Given the description of an element on the screen output the (x, y) to click on. 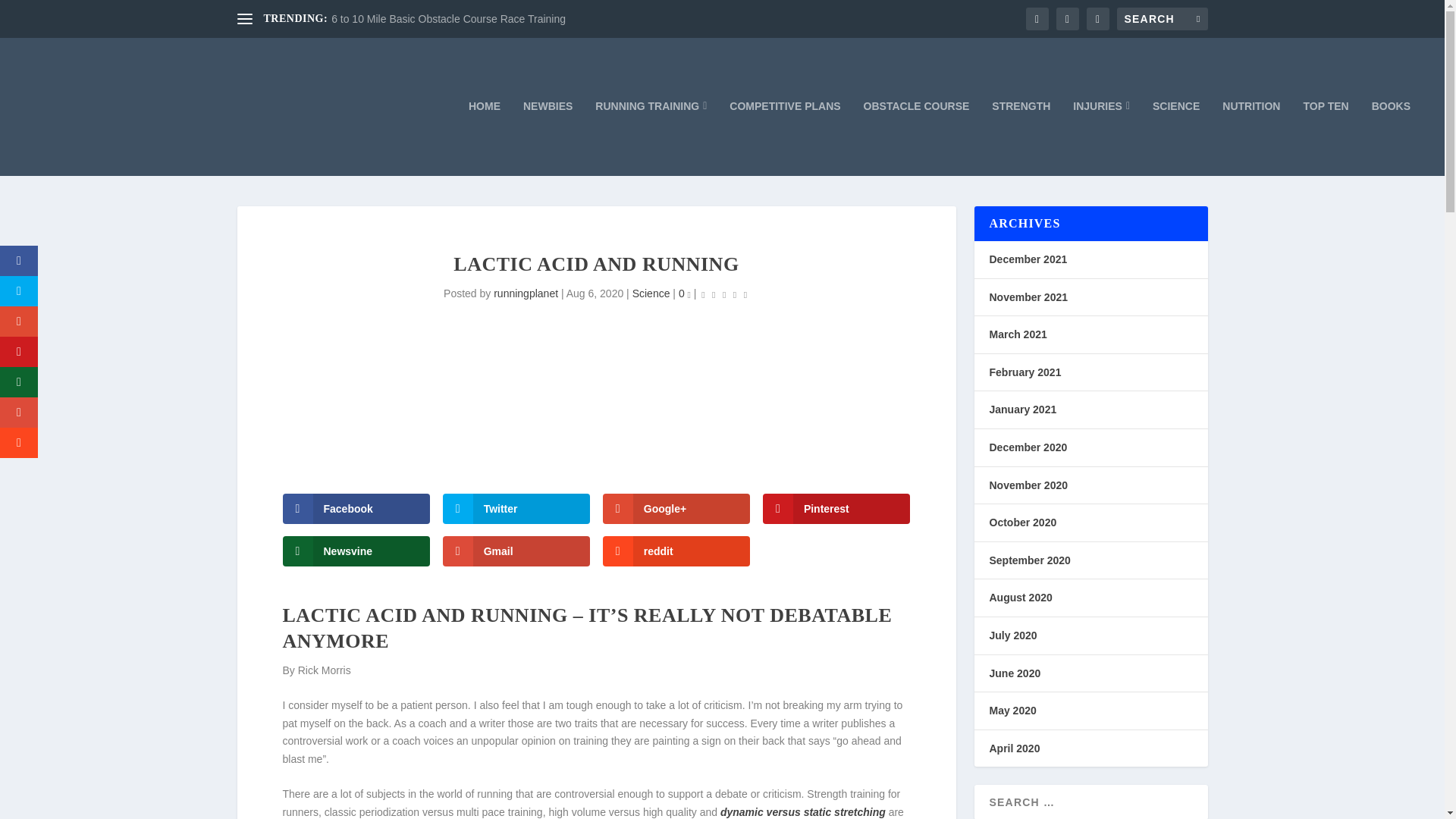
6 to 10 Mile Basic Obstacle Course Race Training (448, 19)
Posts by runningplanet (525, 293)
Search for: (1161, 18)
Rating: 0.00 (723, 294)
RUNNING TRAINING (650, 137)
COMPETITIVE PLANS (784, 137)
OBSTACLE COURSE (916, 137)
